Given the description of an element on the screen output the (x, y) to click on. 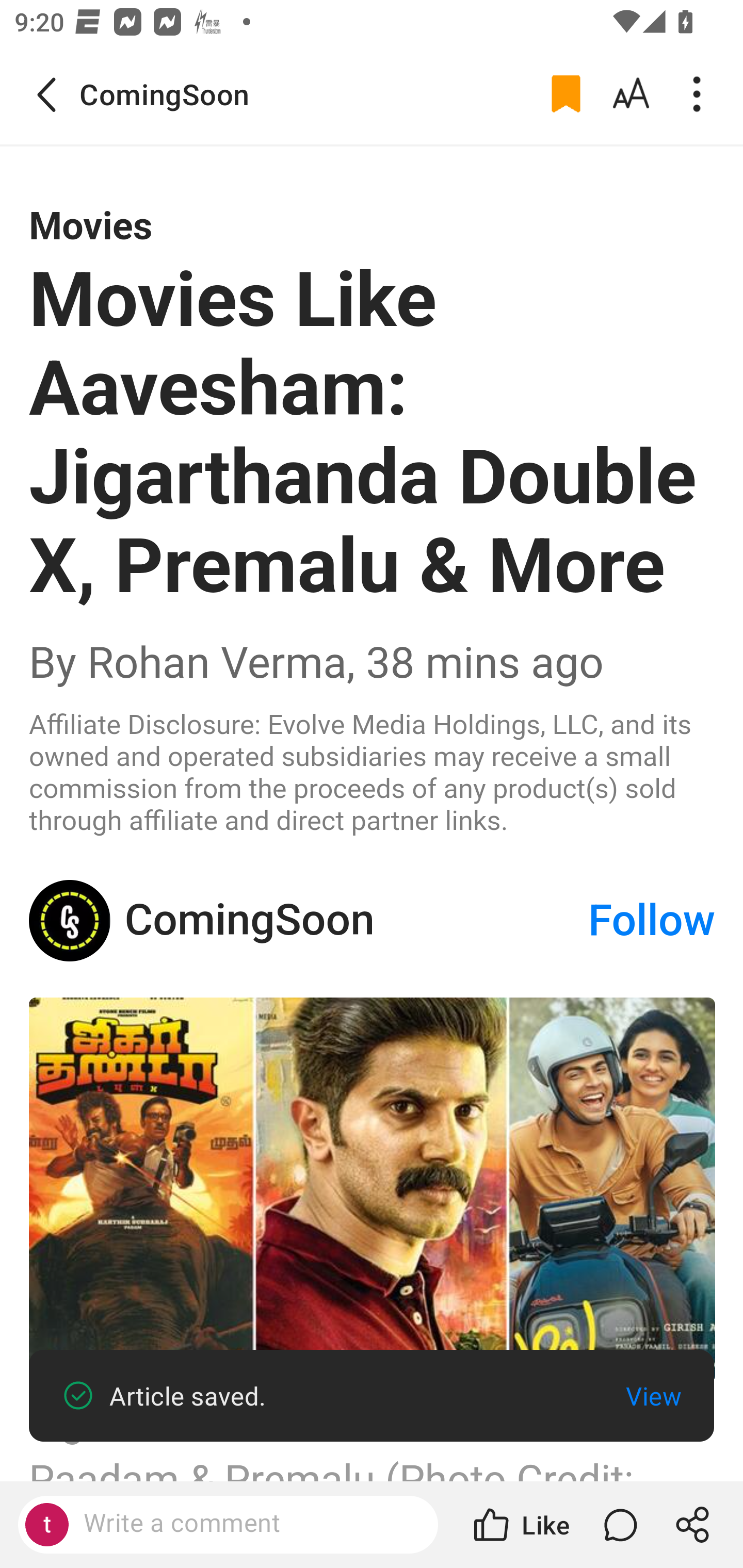
ComingSoon (70, 920)
ComingSoon (355, 920)
Follow (651, 920)
View (653, 1395)
Like (519, 1524)
Write a comment (245, 1523)
